Given the description of an element on the screen output the (x, y) to click on. 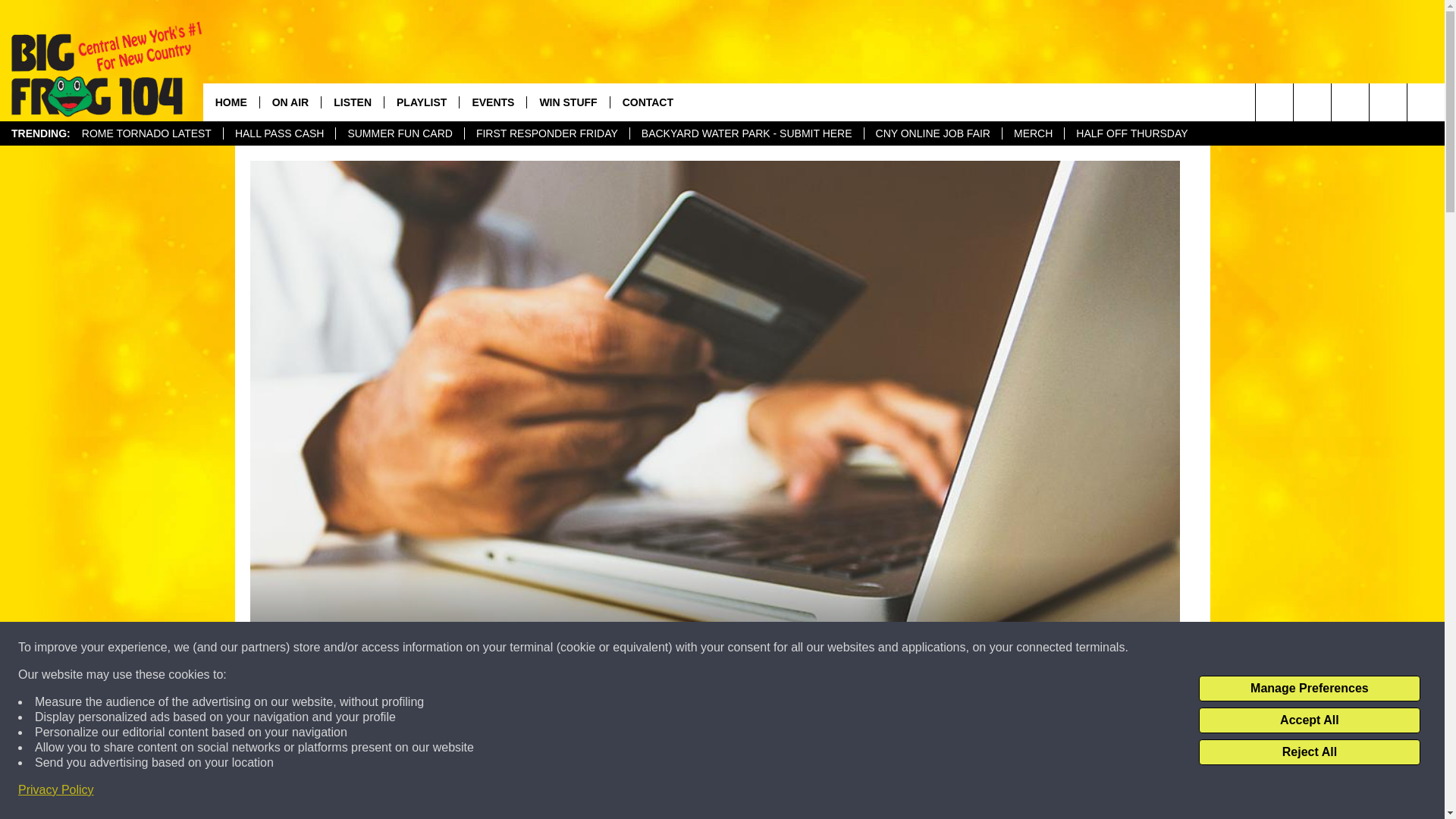
Accept All (1309, 720)
Share on Facebook (517, 791)
HALL PASS CASH (279, 133)
Reject All (1309, 751)
WIN STUFF (566, 102)
HALF OFF THURSDAY (1131, 133)
ROME TORNADO LATEST (145, 133)
LISTEN (352, 102)
HOME (231, 102)
CONTACT (647, 102)
MERCH (1032, 133)
Manage Preferences (1309, 688)
Privacy Policy (55, 789)
SUMMER FUN CARD (398, 133)
CNY ONLINE JOB FAIR (932, 133)
